Given the description of an element on the screen output the (x, y) to click on. 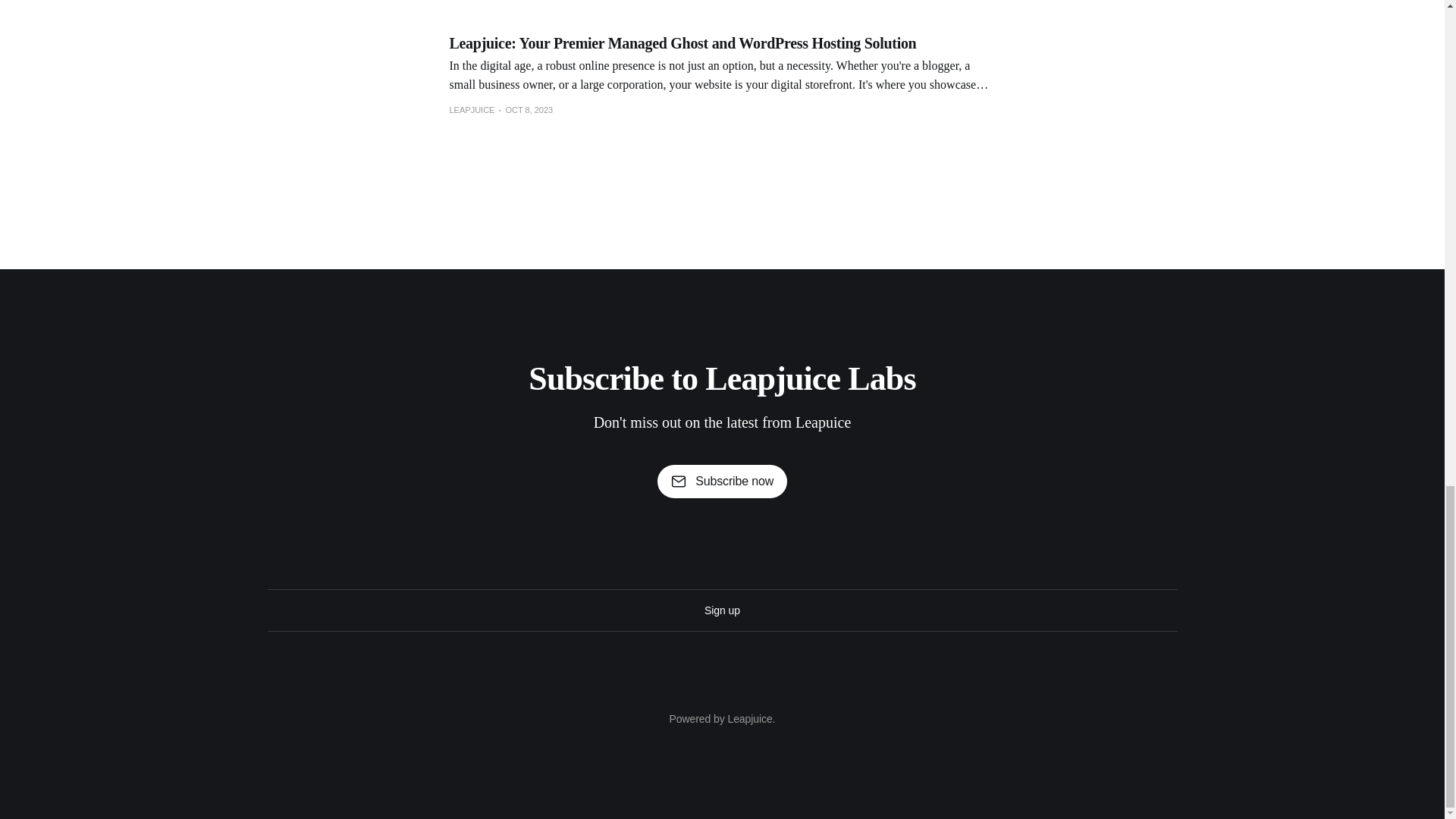
Sign up (721, 610)
Subscribe now (722, 481)
